Given the description of an element on the screen output the (x, y) to click on. 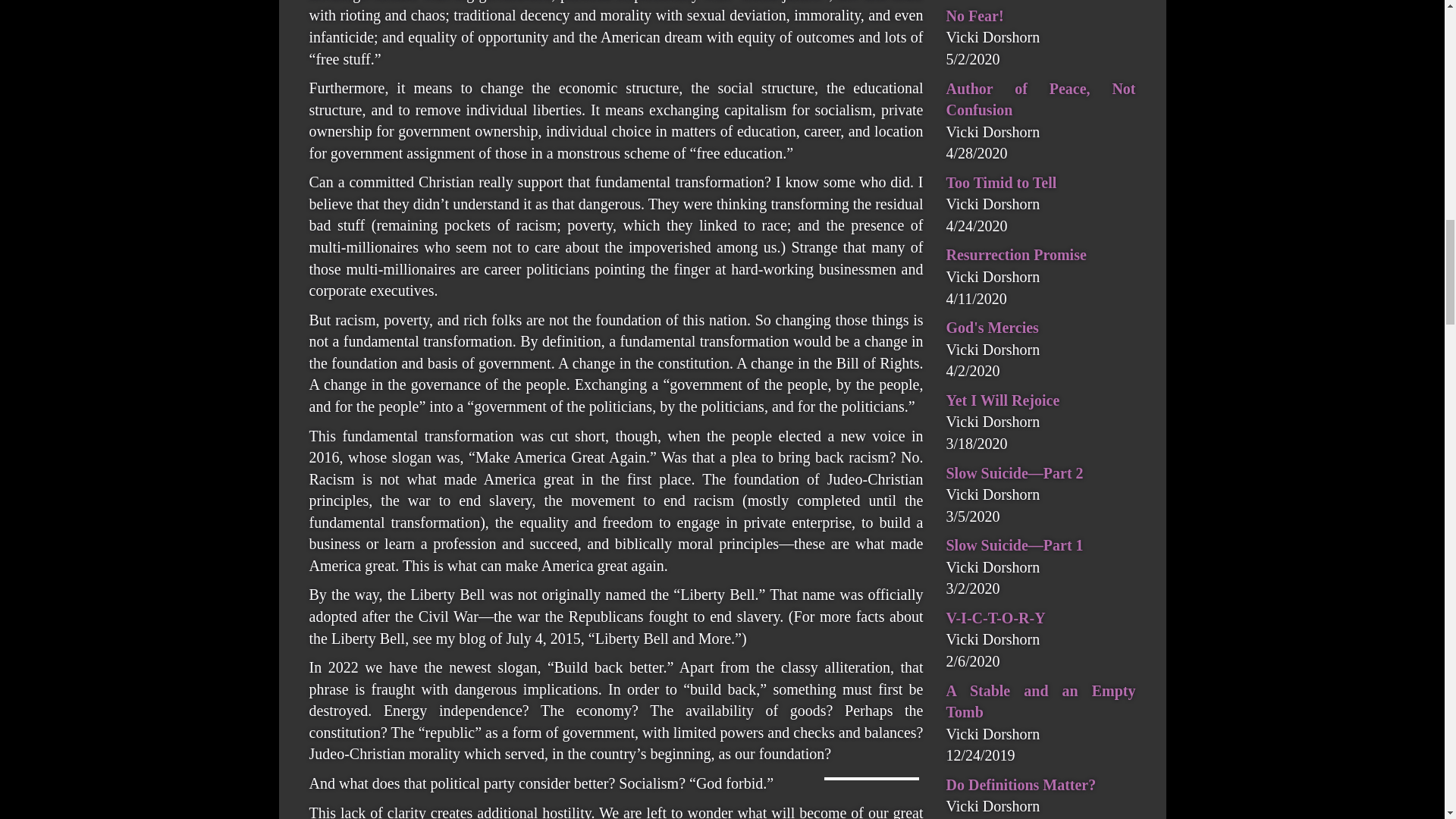
God's Mercies (992, 327)
No Fear! (975, 15)
Author of Peace, Not Confusion (1040, 99)
Too Timid to Tell (1001, 182)
Resurrection Promise (1016, 254)
